Given the description of an element on the screen output the (x, y) to click on. 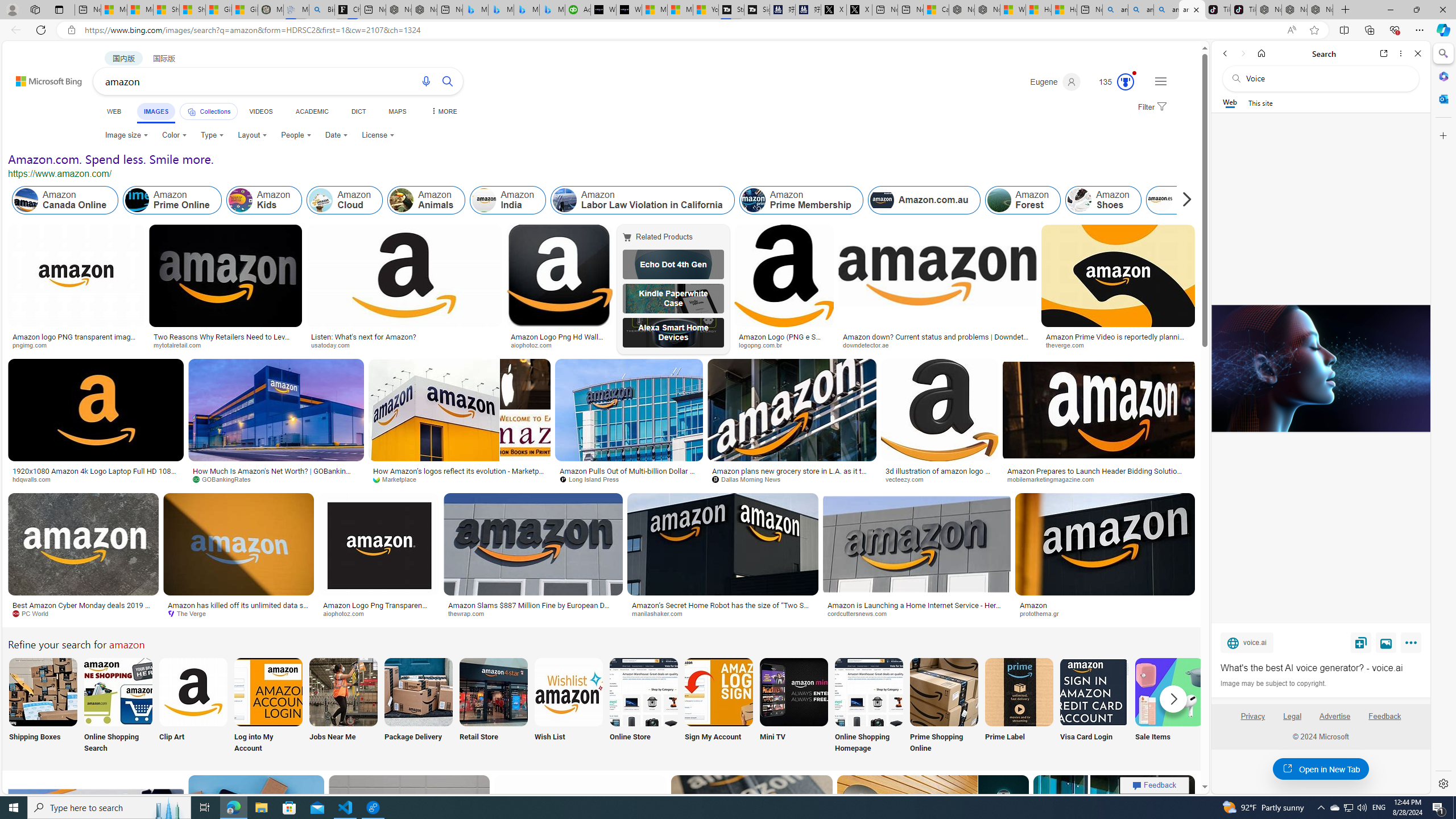
How Much Is Amazon's Net Worth? | GOBankingRates (275, 474)
Prime Label (1018, 706)
Amazon Wish List Wish List (568, 706)
Home (1261, 53)
